Given the description of an element on the screen output the (x, y) to click on. 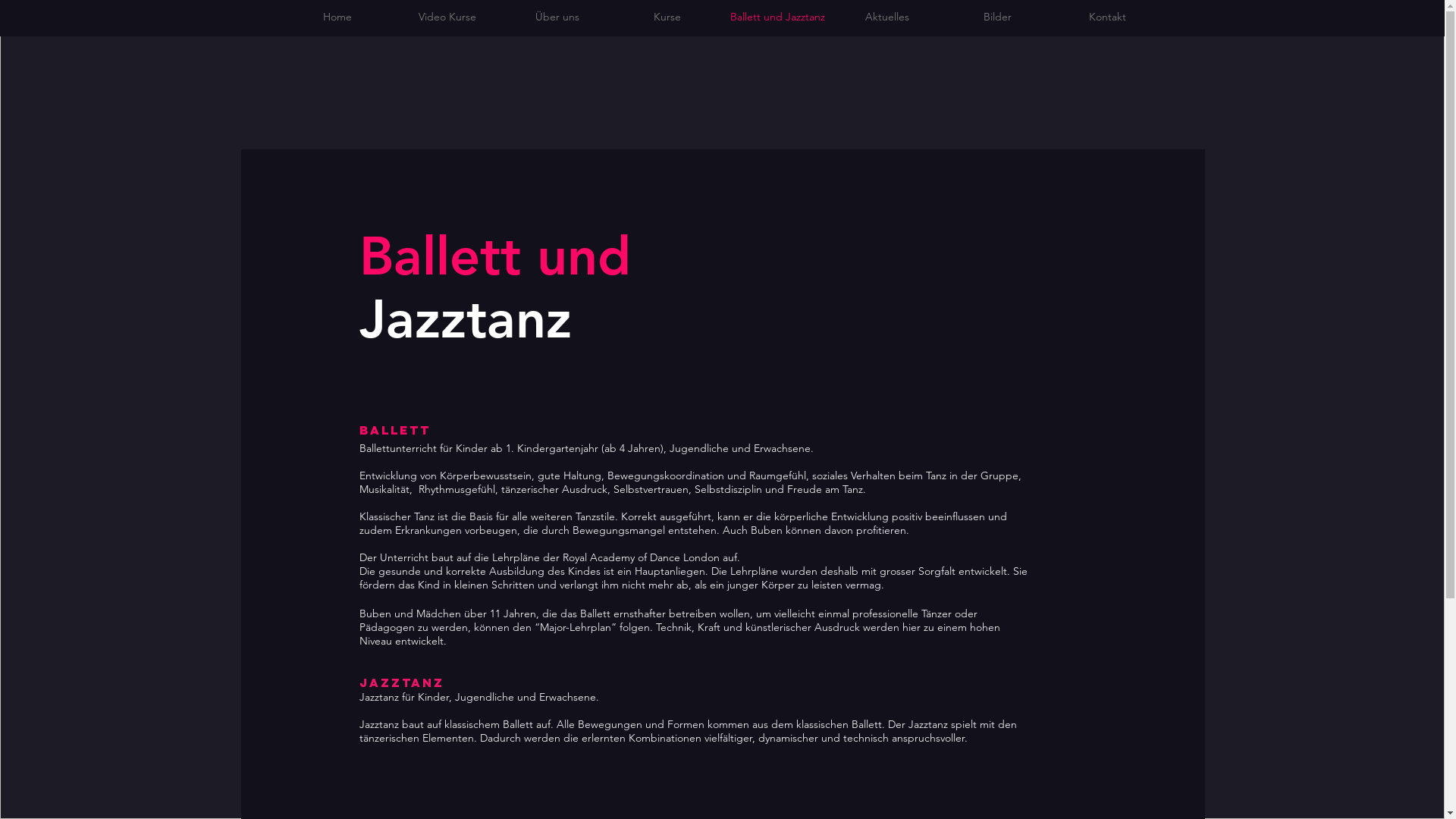
Ballett und Jazztanz Element type: text (776, 16)
Bilder Element type: text (996, 16)
Home Element type: text (337, 16)
Aktuelles Element type: text (887, 16)
Kontakt Element type: text (1107, 16)
Kurse Element type: text (667, 16)
Video Kurse Element type: text (447, 16)
